Given the description of an element on the screen output the (x, y) to click on. 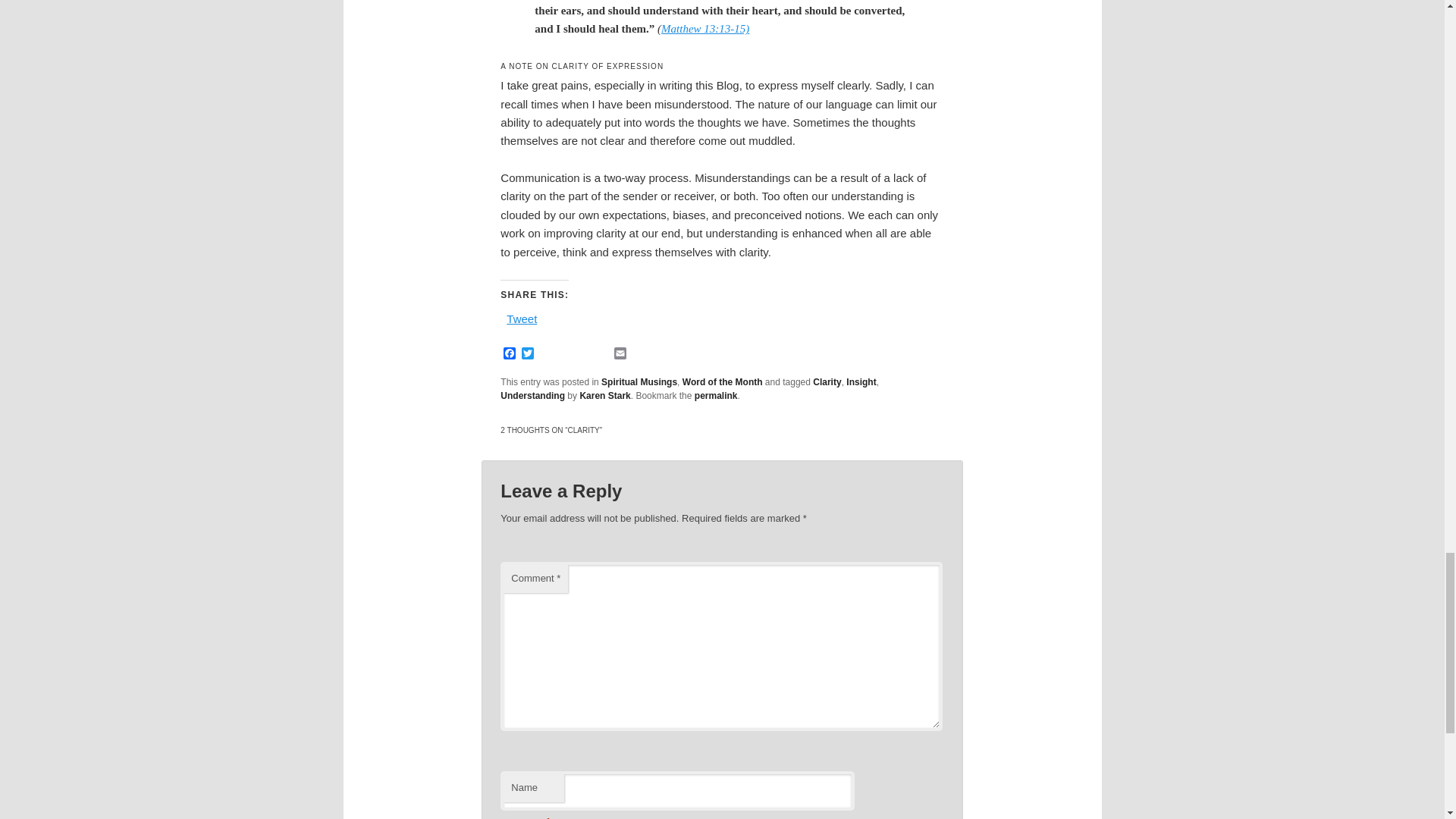
Facebook (509, 354)
permalink (716, 395)
Email (619, 354)
Permalink to Clarity (716, 395)
Tweet (521, 316)
Twitter (527, 354)
Insight (860, 381)
Word of the Month (722, 381)
Email (619, 354)
Understanding (532, 395)
